Given the description of an element on the screen output the (x, y) to click on. 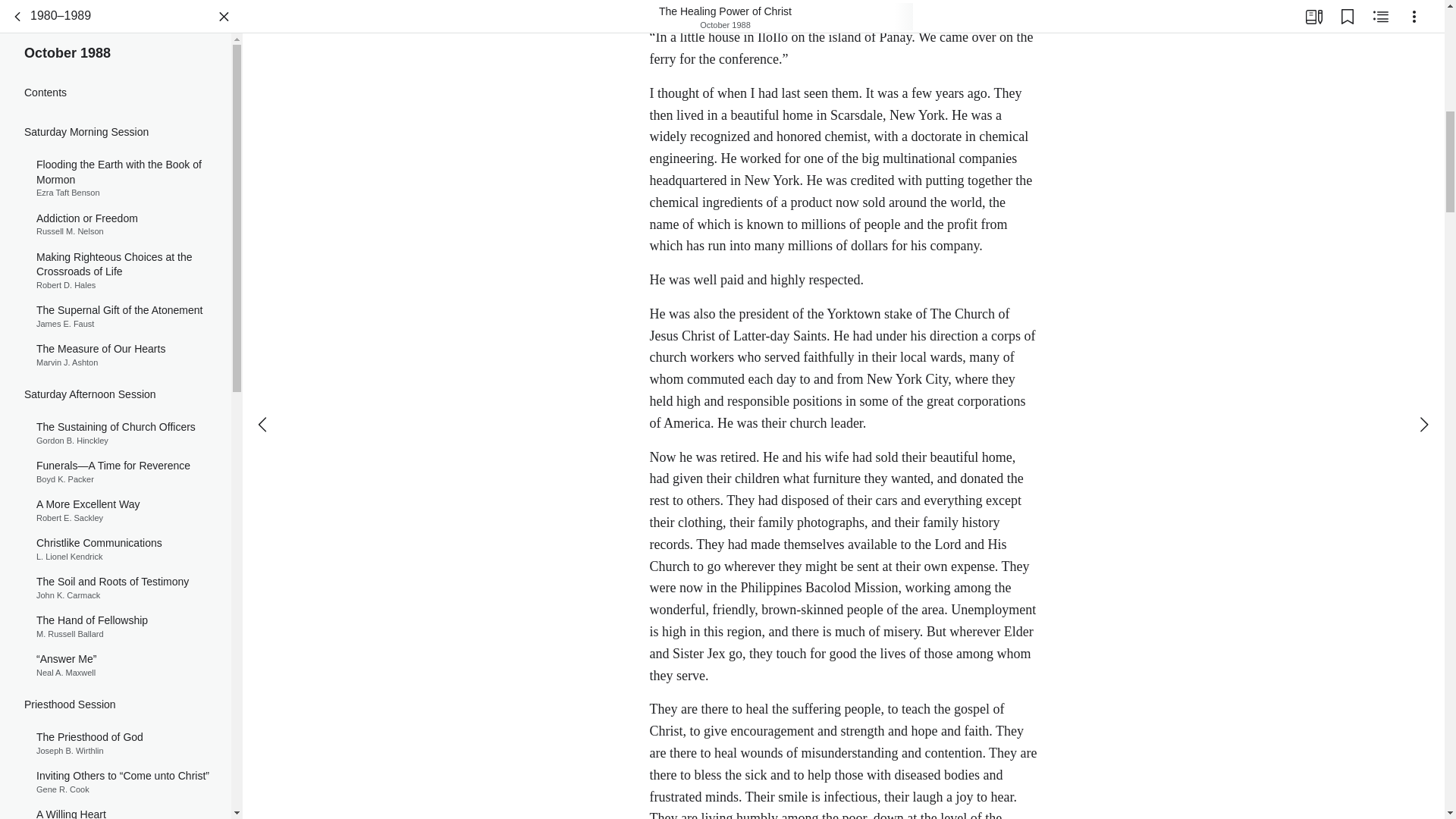
Sunday Morning Session (115, 329)
Sunday Afternoon Session (115, 639)
